Given the description of an element on the screen output the (x, y) to click on. 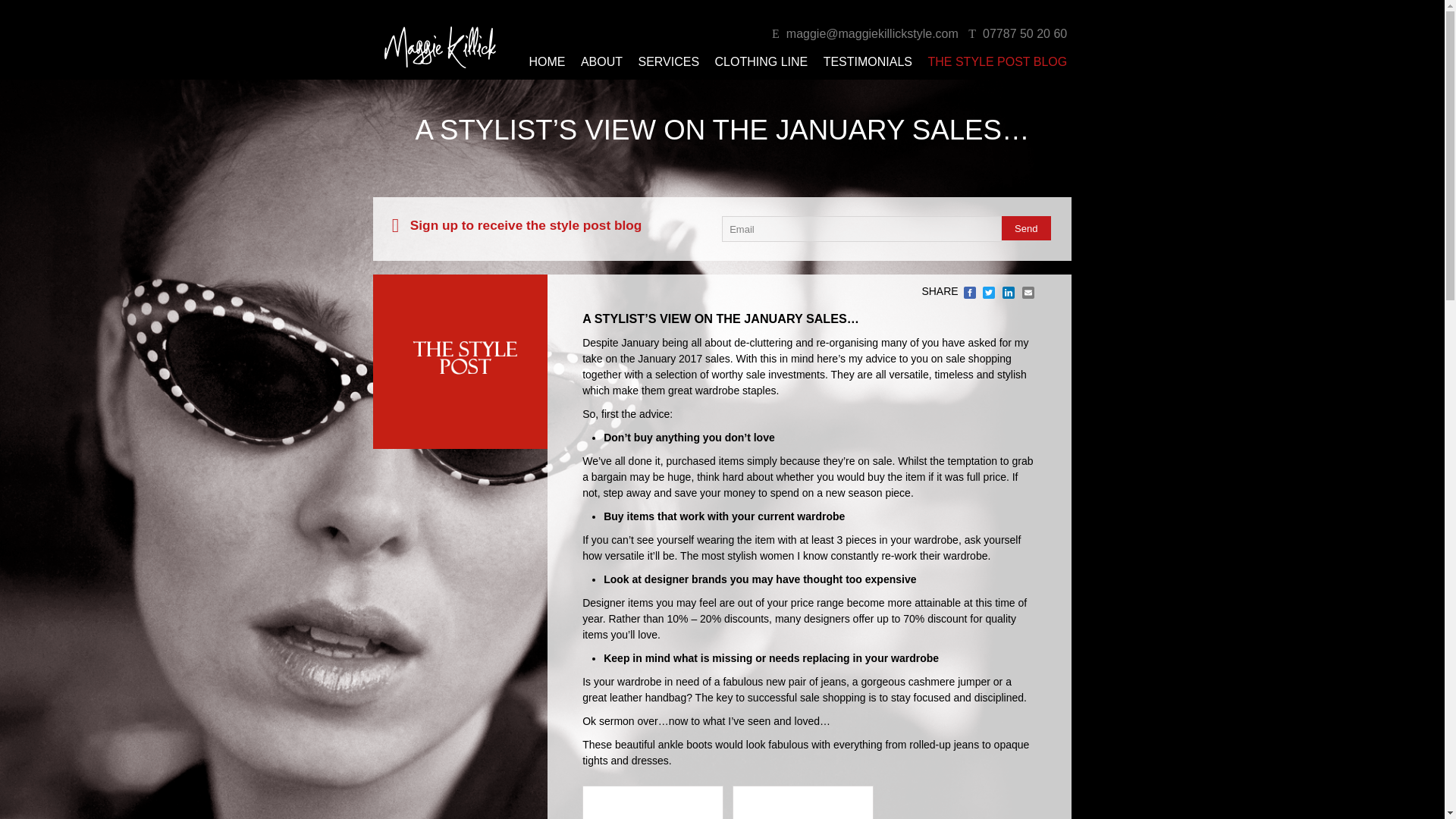
Home (546, 61)
The Collection (761, 61)
ABOUT (601, 61)
Why Choose Maggie Killick Style? (601, 61)
THE STYLE POST BLOG (997, 61)
The Style Post Blog (997, 61)
SERVICES (667, 61)
07787 50 20 60 (1013, 33)
CLOTHING LINE (761, 61)
Send (1026, 228)
Testimonials (868, 61)
HOME (546, 61)
Services (667, 61)
TESTIMONIALS (868, 61)
